Given the description of an element on the screen output the (x, y) to click on. 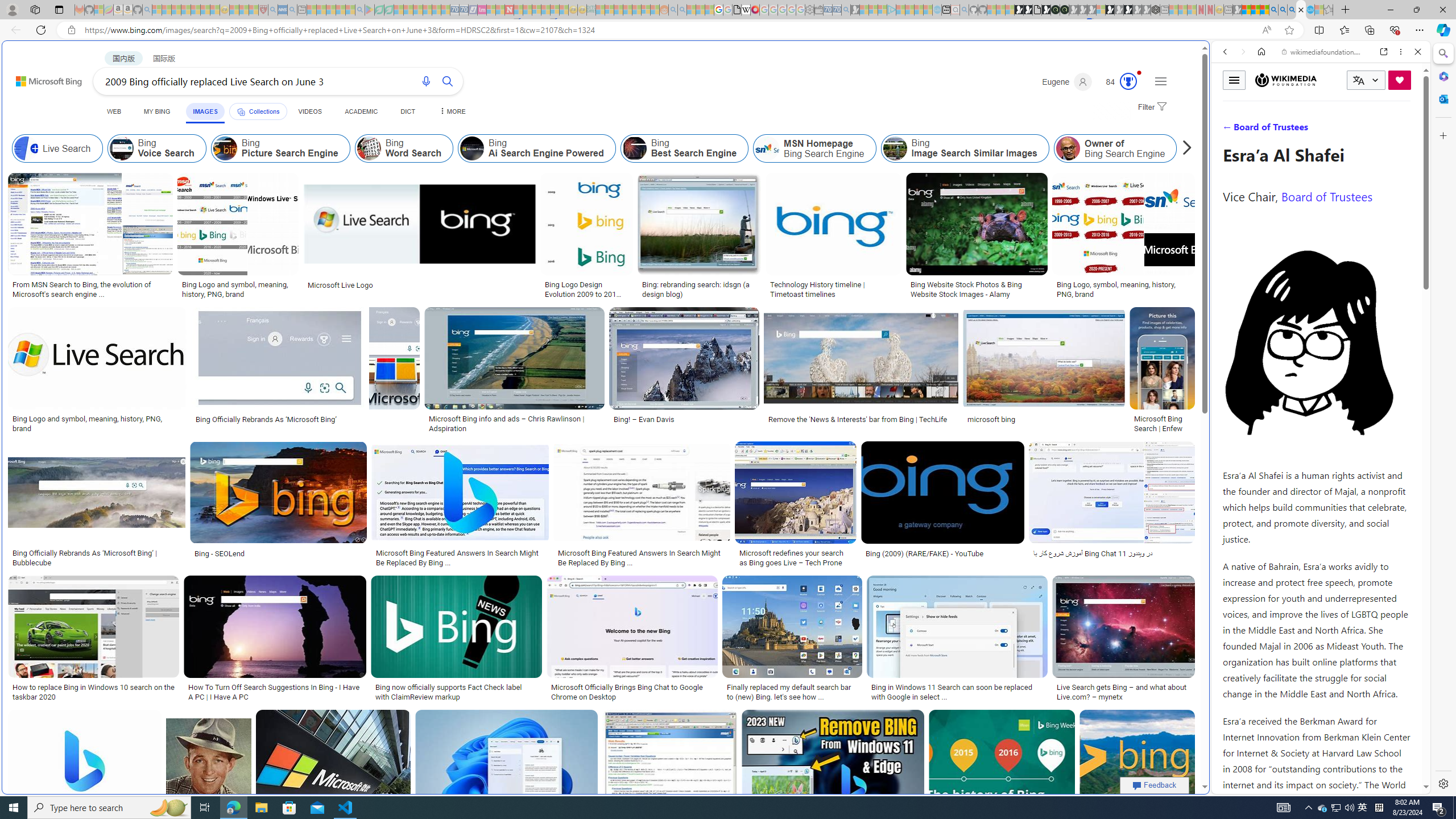
Live Search (25, 148)
utah sues federal government - Search - Sleeping (291, 9)
Dropdown Menu (451, 111)
Bing Best Search Engine (633, 148)
Bing: rebranding search: idsgn (a design blog)Save (701, 237)
Sign in to your account - Sleeping (1100, 9)
Expert Portfolios - Sleeping (627, 9)
ACADEMIC (360, 111)
